Given the description of an element on the screen output the (x, y) to click on. 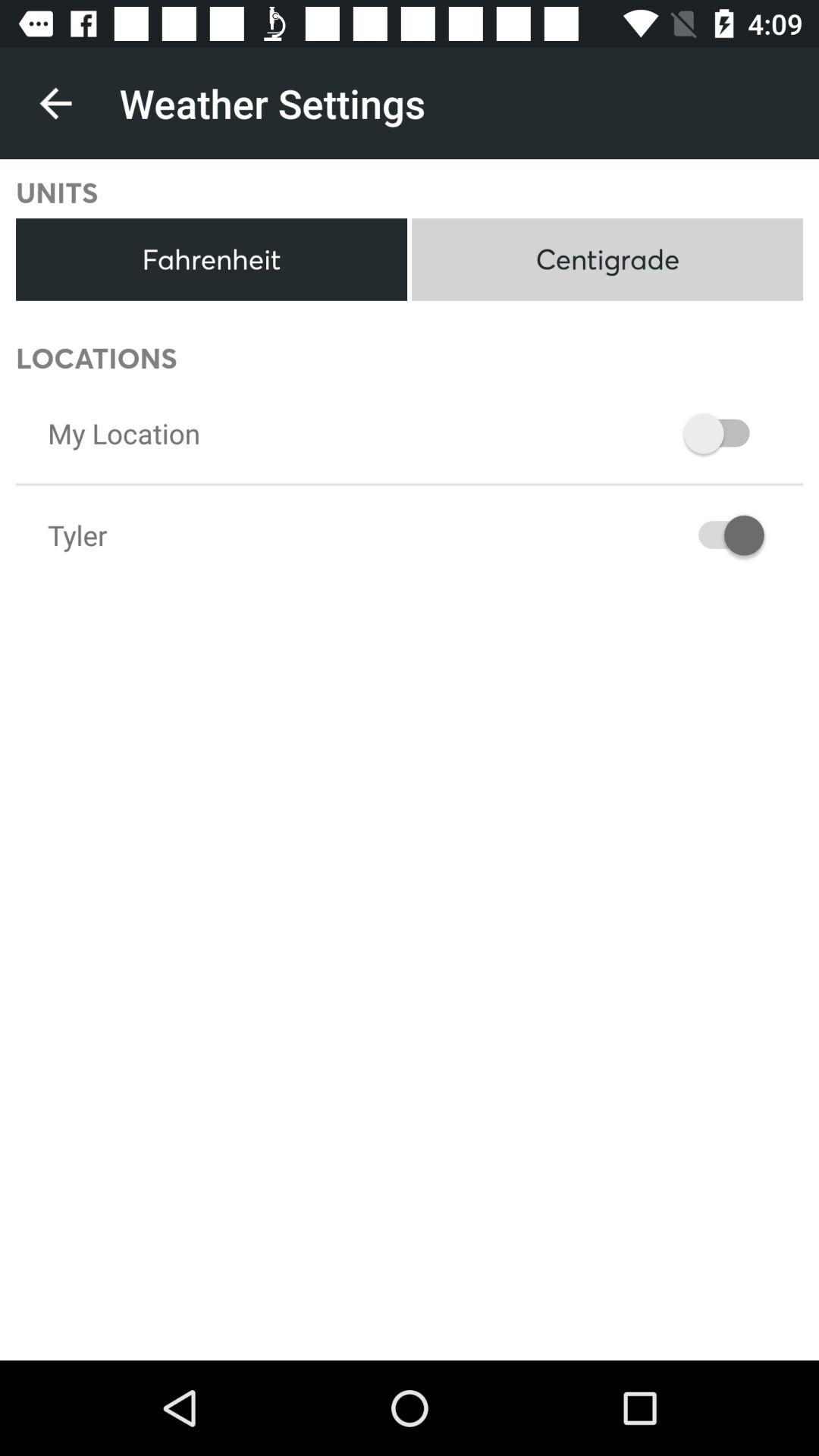
launch the item to the left of the weather settings item (55, 103)
